Given the description of an element on the screen output the (x, y) to click on. 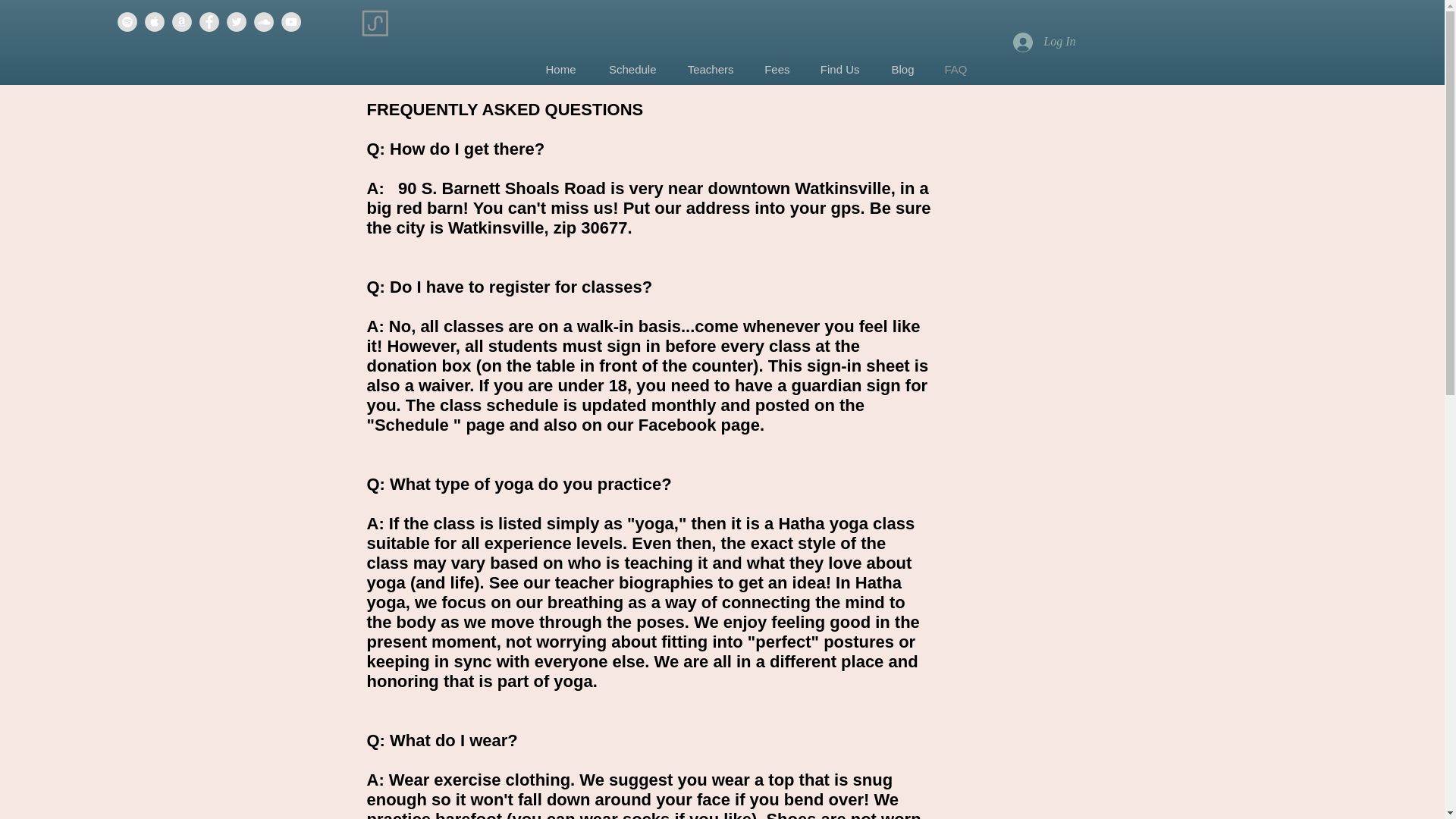
teacher biographies (633, 582)
our Facebook page (683, 424)
Find Us (840, 69)
Schedule (631, 69)
Log In (1044, 41)
Teachers (710, 69)
